Given the description of an element on the screen output the (x, y) to click on. 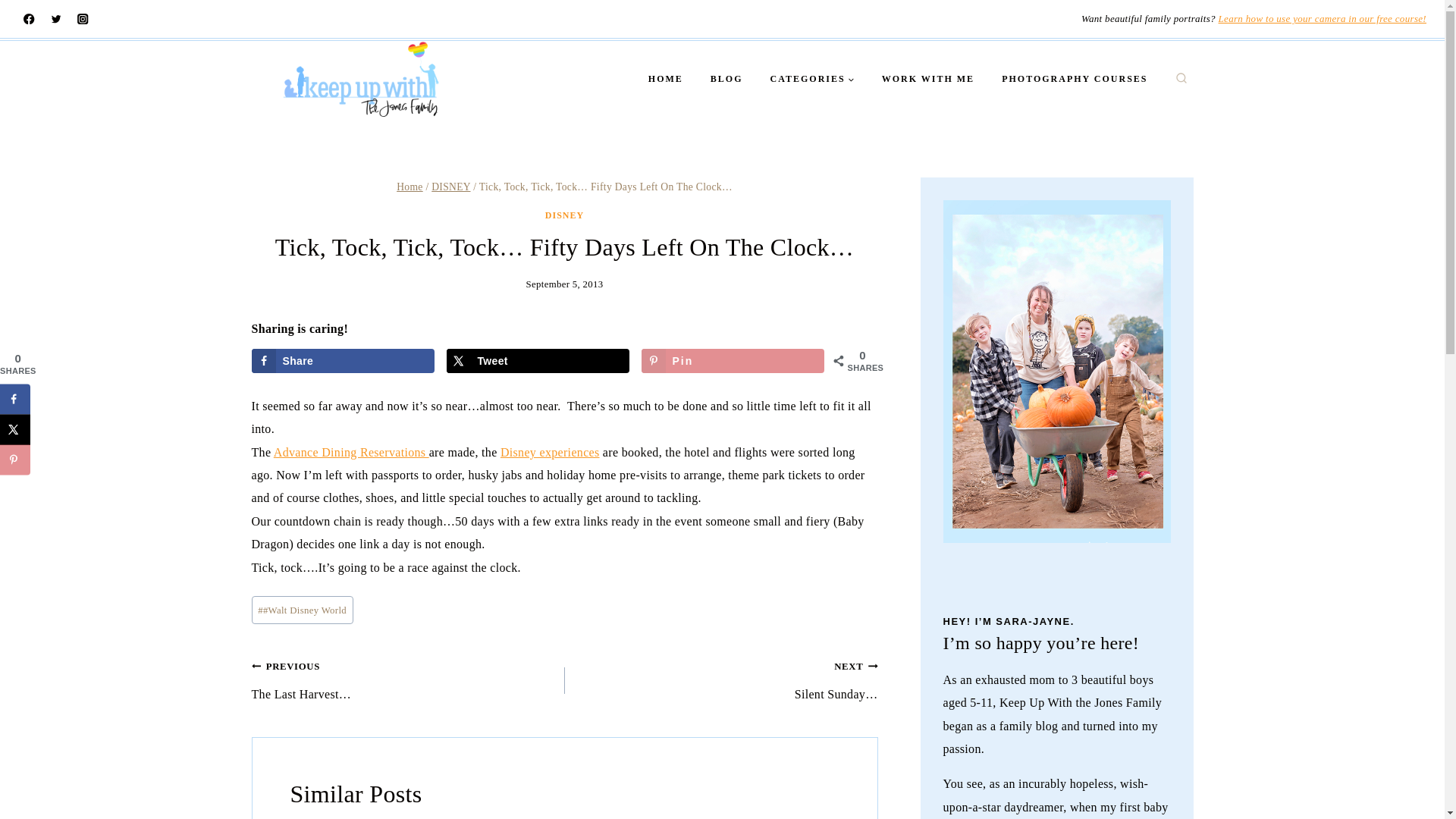
Share on Facebook (15, 399)
Save to Pinterest (733, 360)
DISNEY (563, 214)
Share on X (15, 429)
Share on X (538, 360)
Home (409, 186)
HOME (665, 79)
Tweet (538, 360)
Advance Dining Reservations (351, 451)
Share (343, 360)
PHOTOGRAPHY COURSES (1074, 79)
Learn how to use your camera in our free course! (1322, 18)
BLOG (727, 79)
Disney experiences (549, 451)
Share on Facebook (343, 360)
